Given the description of an element on the screen output the (x, y) to click on. 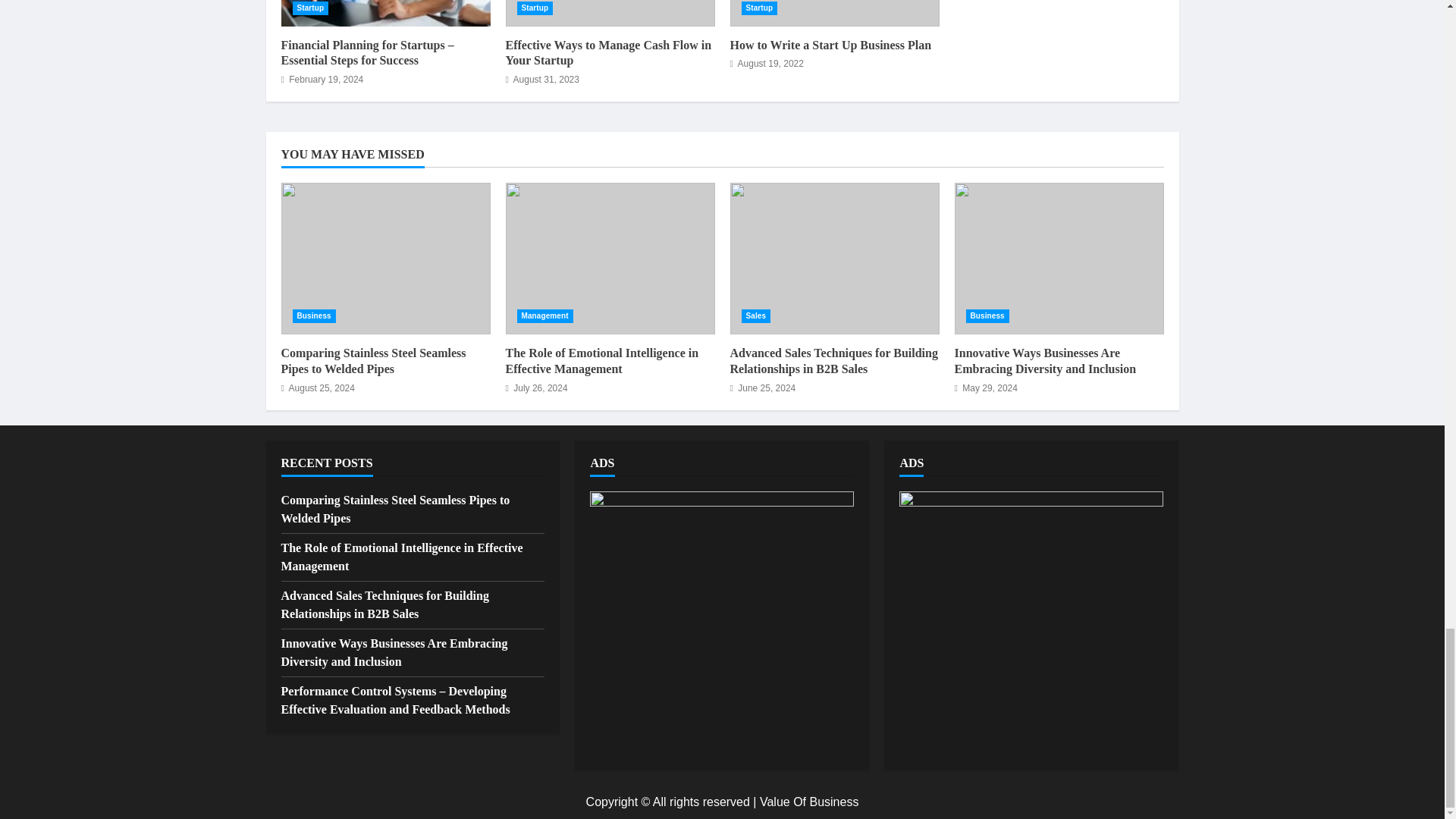
Comparing Stainless Steel Seamless Pipes to Welded Pipes (373, 360)
Startup (310, 8)
The Role of Emotional Intelligence in Effective Management (609, 258)
Management (544, 315)
Startup (534, 8)
Effective Ways to Manage Cash Flow in Your Startup (609, 13)
Business (314, 315)
Sales (756, 315)
